Given the description of an element on the screen output the (x, y) to click on. 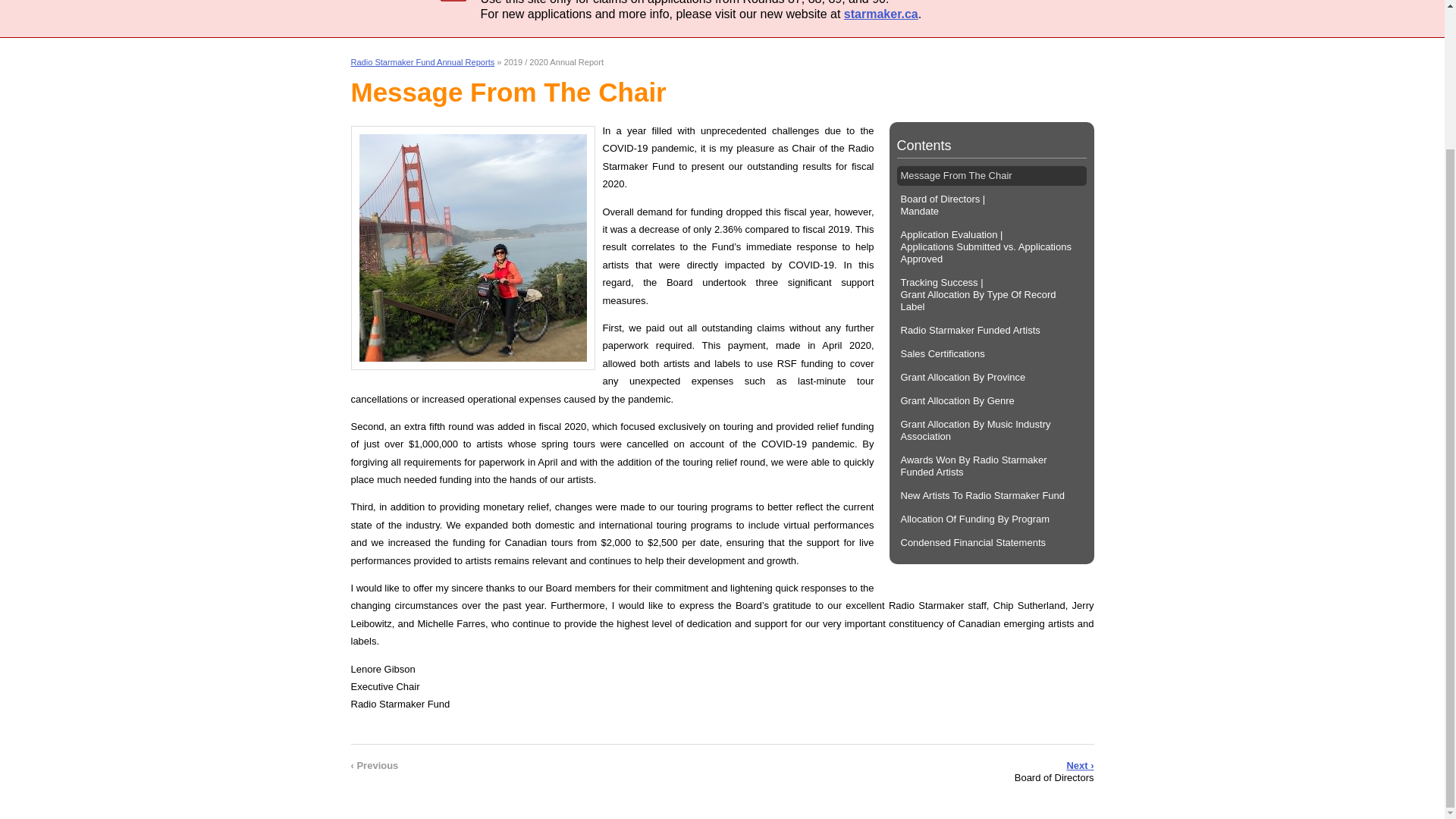
Condensed Financial Statements (991, 542)
Awards Won By Radio Starmaker Funded Artists (991, 466)
starmaker.ca (881, 13)
New Artists To Radio Starmaker Fund (991, 496)
Allocation Of Funding By Program (991, 519)
Grant Allocation By Province (991, 377)
Radio Starmaker Fund Annual Reports (422, 61)
Grant Allocation By Music Industry Association (991, 430)
Radio Starmaker Funded Artists (991, 330)
Sales Certifications (991, 353)
